Given the description of an element on the screen output the (x, y) to click on. 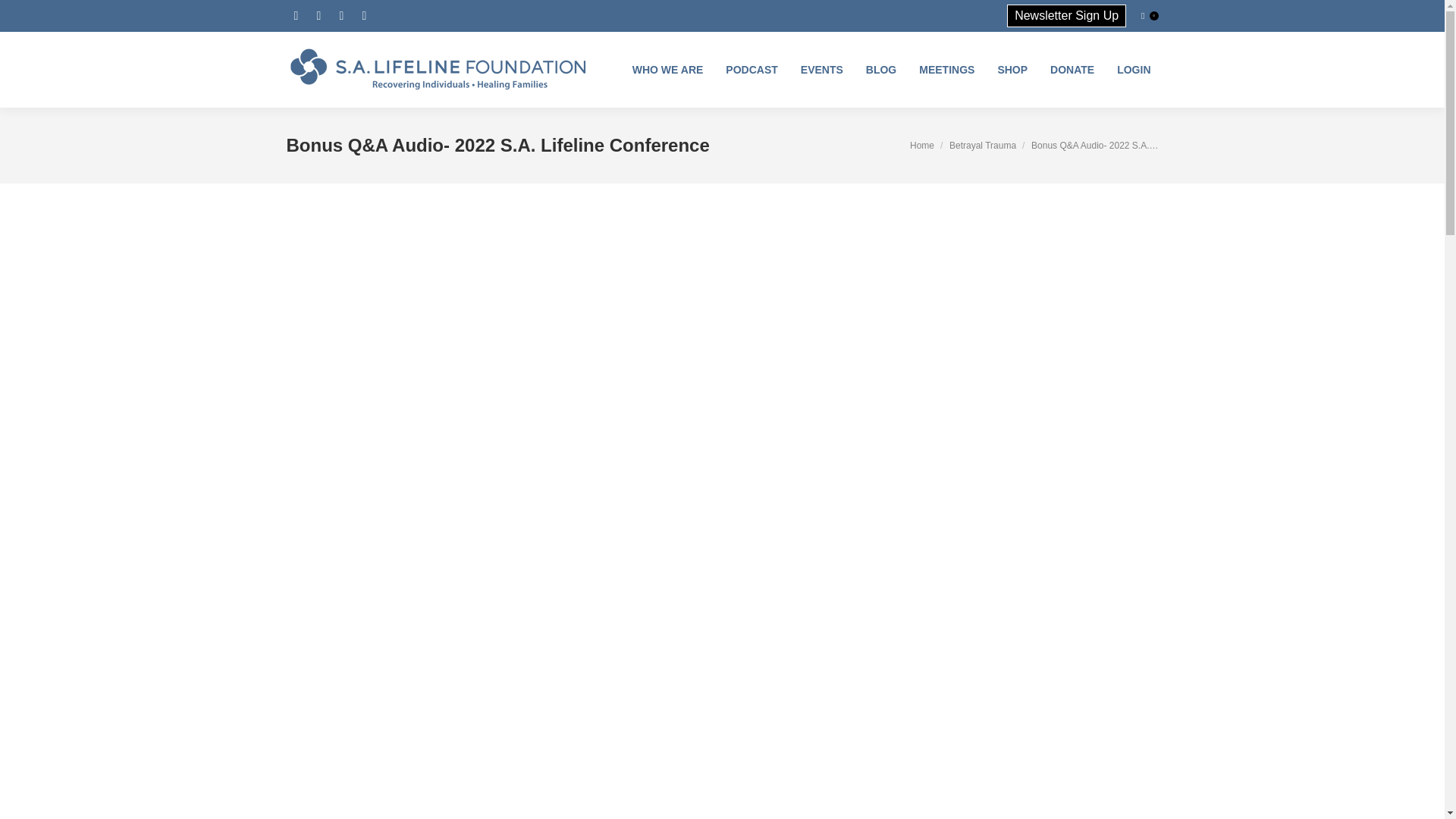
Facebook page opens in new window (295, 15)
Mail page opens in new window (364, 15)
BLOG (881, 69)
YouTube page opens in new window (341, 15)
EVENTS (821, 69)
DONATE (1072, 69)
PODCAST (750, 69)
Home (922, 145)
Betrayal Trauma (982, 145)
 0 (1149, 15)
